Given the description of an element on the screen output the (x, y) to click on. 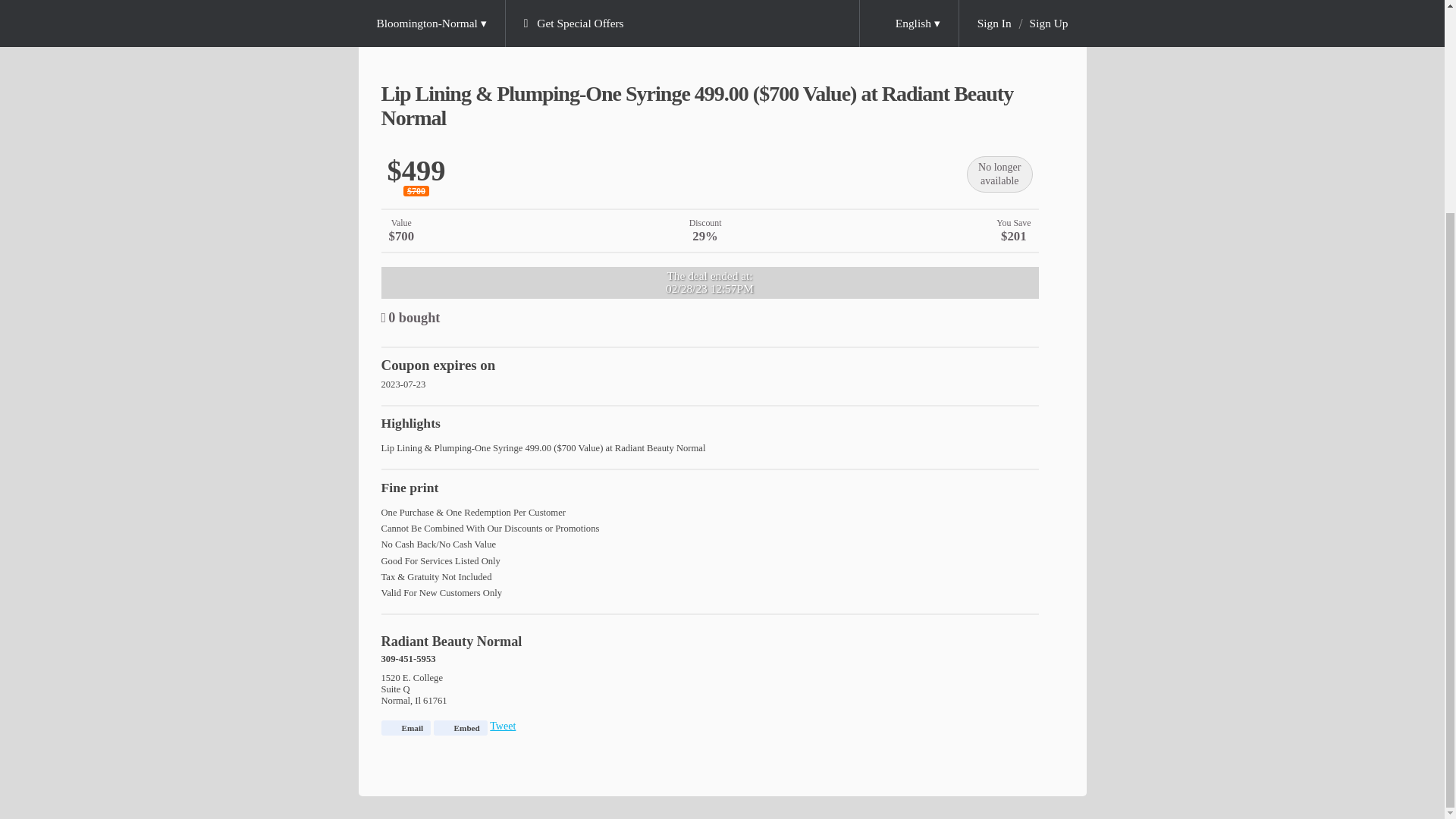
Fitness (653, 2)
Clothing (536, 2)
Fun (595, 2)
Car Care (410, 2)
Spas (473, 2)
